Given the description of an element on the screen output the (x, y) to click on. 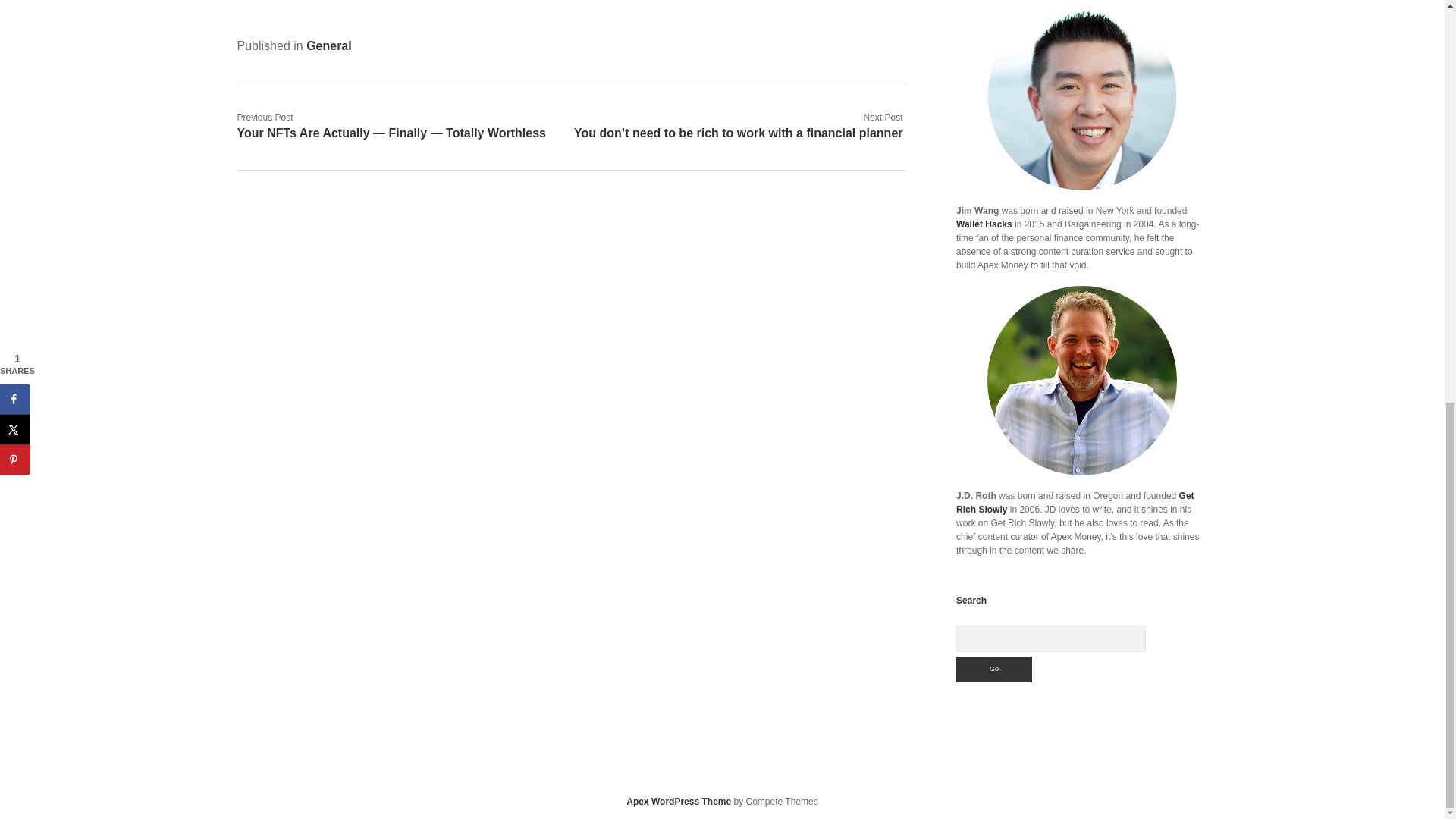
Apex WordPress Theme (678, 801)
Go (994, 669)
Go (994, 669)
View all posts in General (328, 45)
Get Rich Slowly (1074, 502)
Search for: (1050, 638)
Go (994, 669)
Wallet Hacks (983, 224)
General (328, 45)
